Given the description of an element on the screen output the (x, y) to click on. 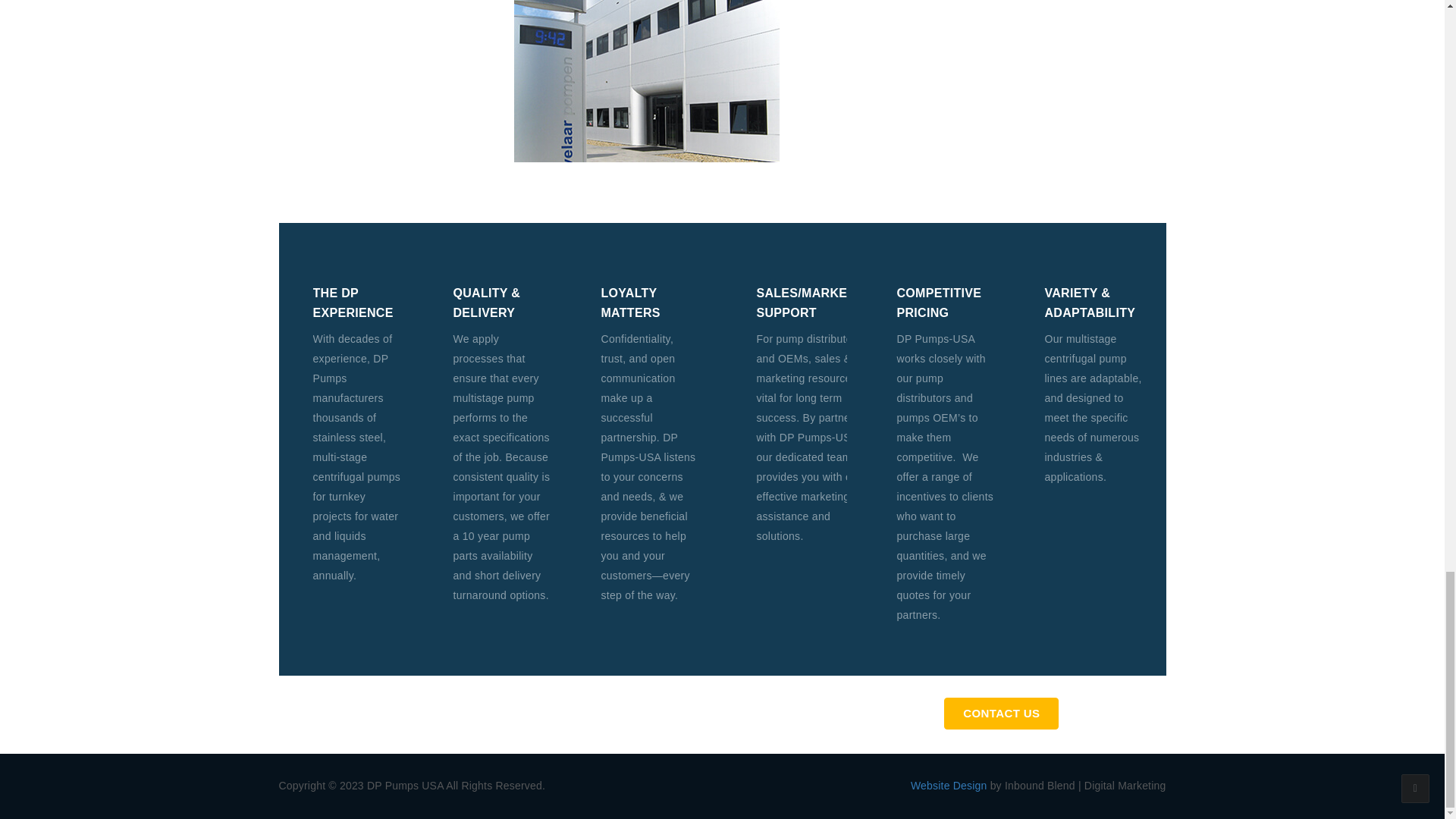
Website Design (949, 785)
CONTACT US (1000, 713)
